Given the description of an element on the screen output the (x, y) to click on. 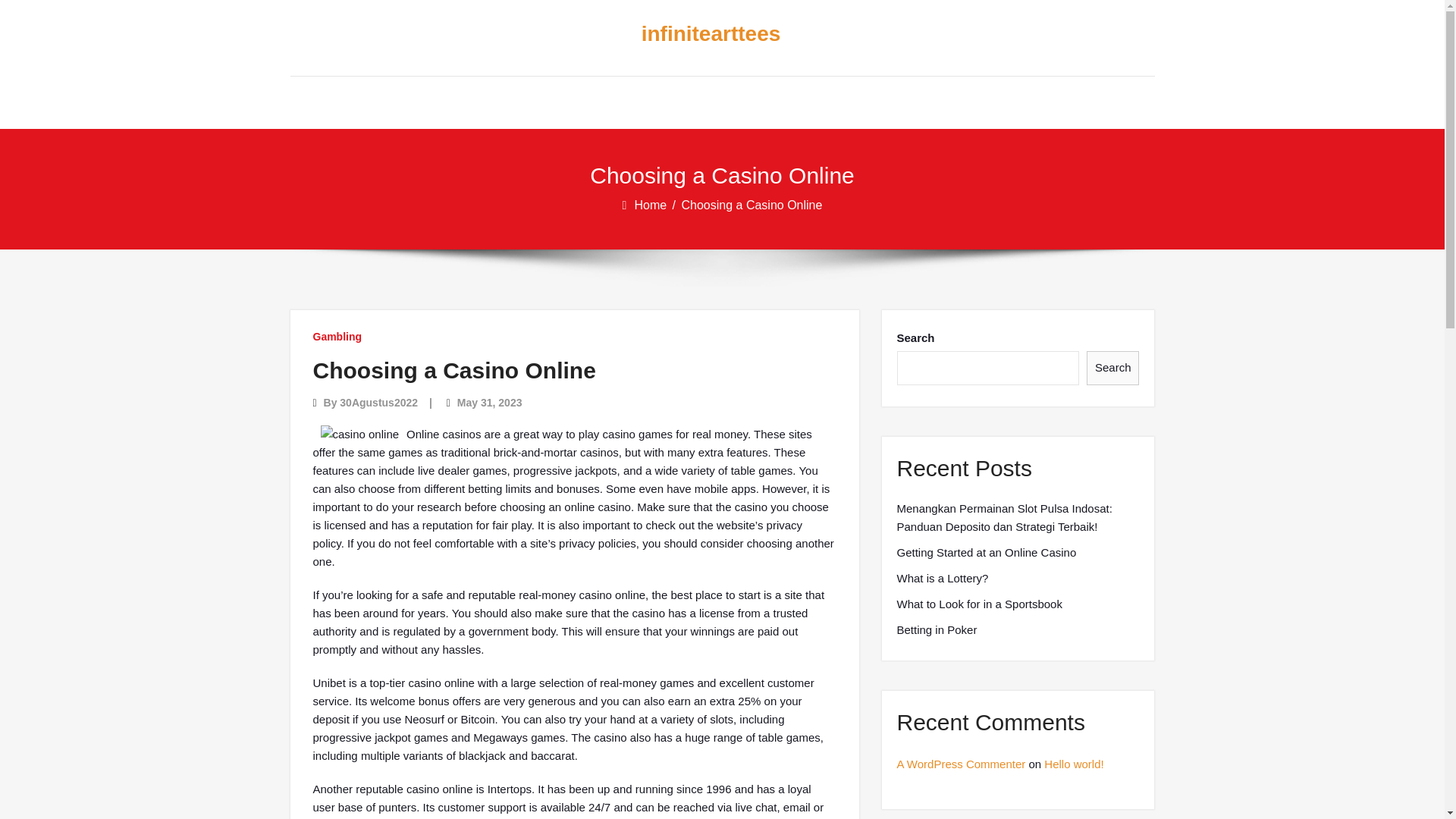
A WordPress Commenter (960, 763)
Home (650, 205)
Hello world! (1073, 763)
May 31, 2023 (489, 402)
30Agustus2022 (378, 402)
Getting Started at an Online Casino (985, 552)
Betting in Poker (936, 629)
infinitearttees (710, 34)
Search (1113, 367)
Gambling (337, 336)
What to Look for in a Sportsbook (978, 604)
What is a Lottery? (942, 578)
